Given the description of an element on the screen output the (x, y) to click on. 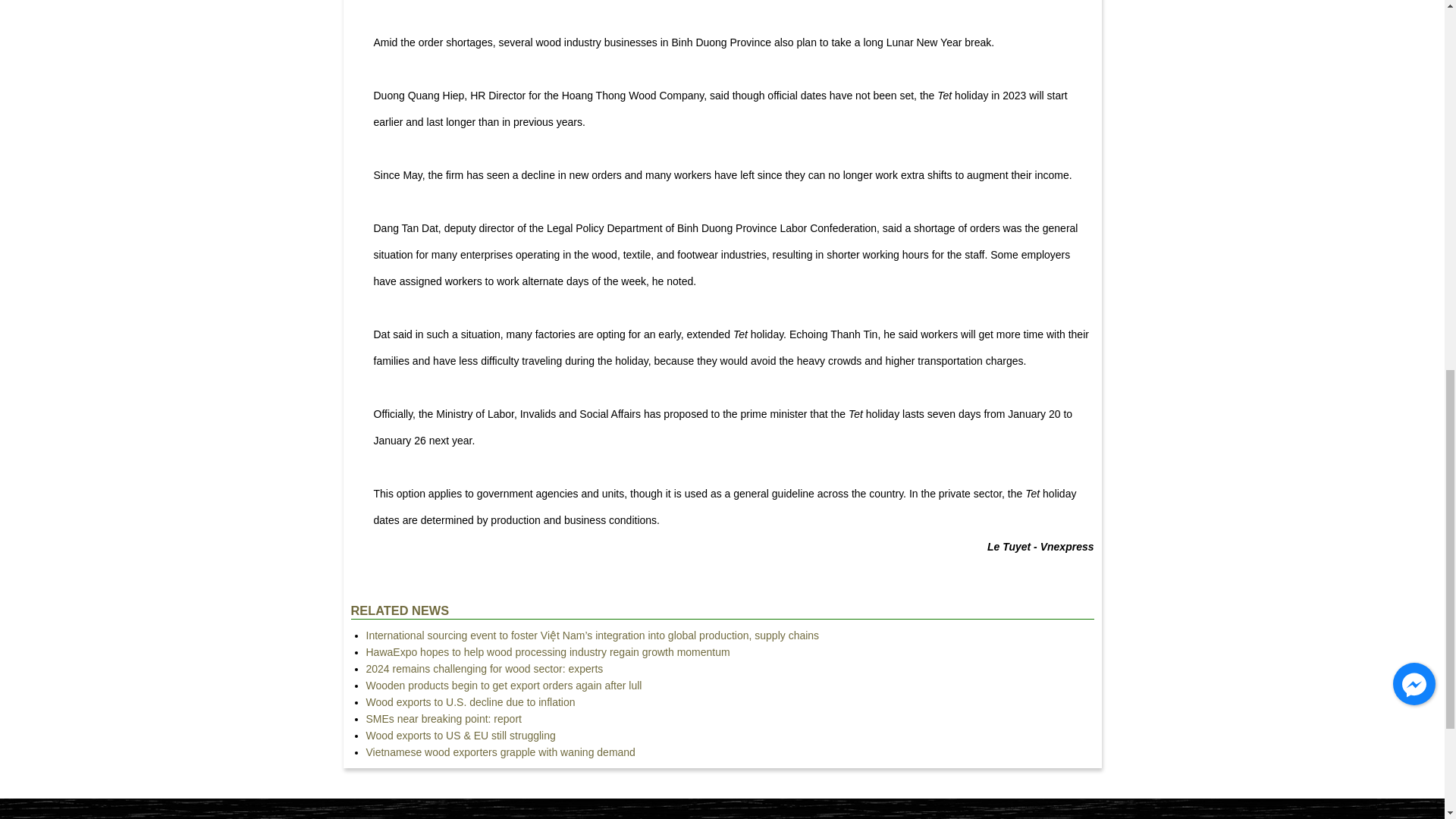
2024 remains challenging for wood sector: experts (483, 668)
Wooden products begin to get export orders again after lull (503, 685)
SMEs near breaking point: report (443, 718)
Wood exports to U.S. decline due to inflation (470, 702)
Vietnamese wood exporters grapple with waning demand (499, 752)
